Given the description of an element on the screen output the (x, y) to click on. 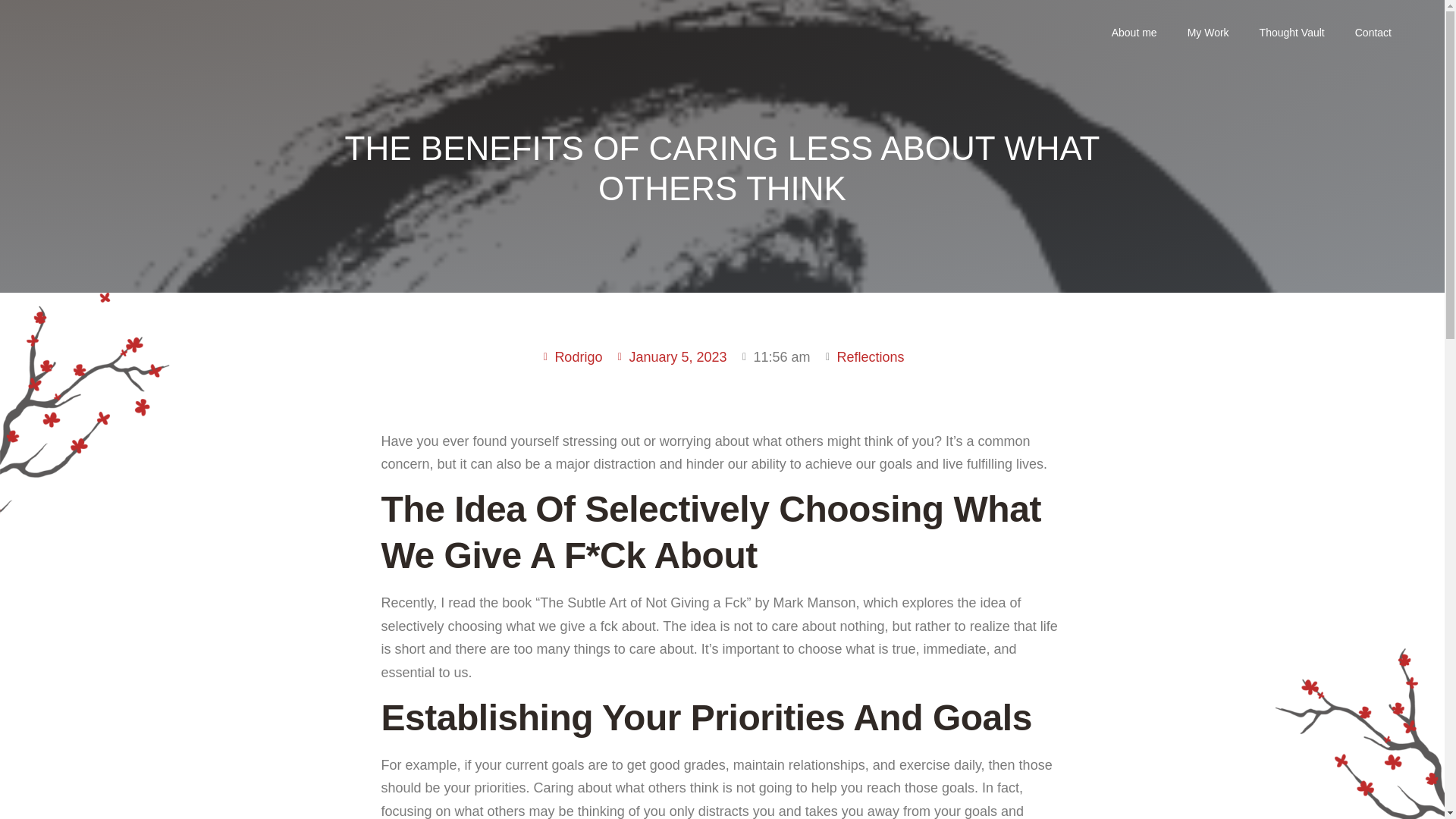
Contact (1372, 33)
Thought Vault (1291, 33)
Rodrigo (571, 357)
My Work (1208, 33)
Reflections (870, 356)
About me (1134, 33)
January 5, 2023 (670, 357)
